Given the description of an element on the screen output the (x, y) to click on. 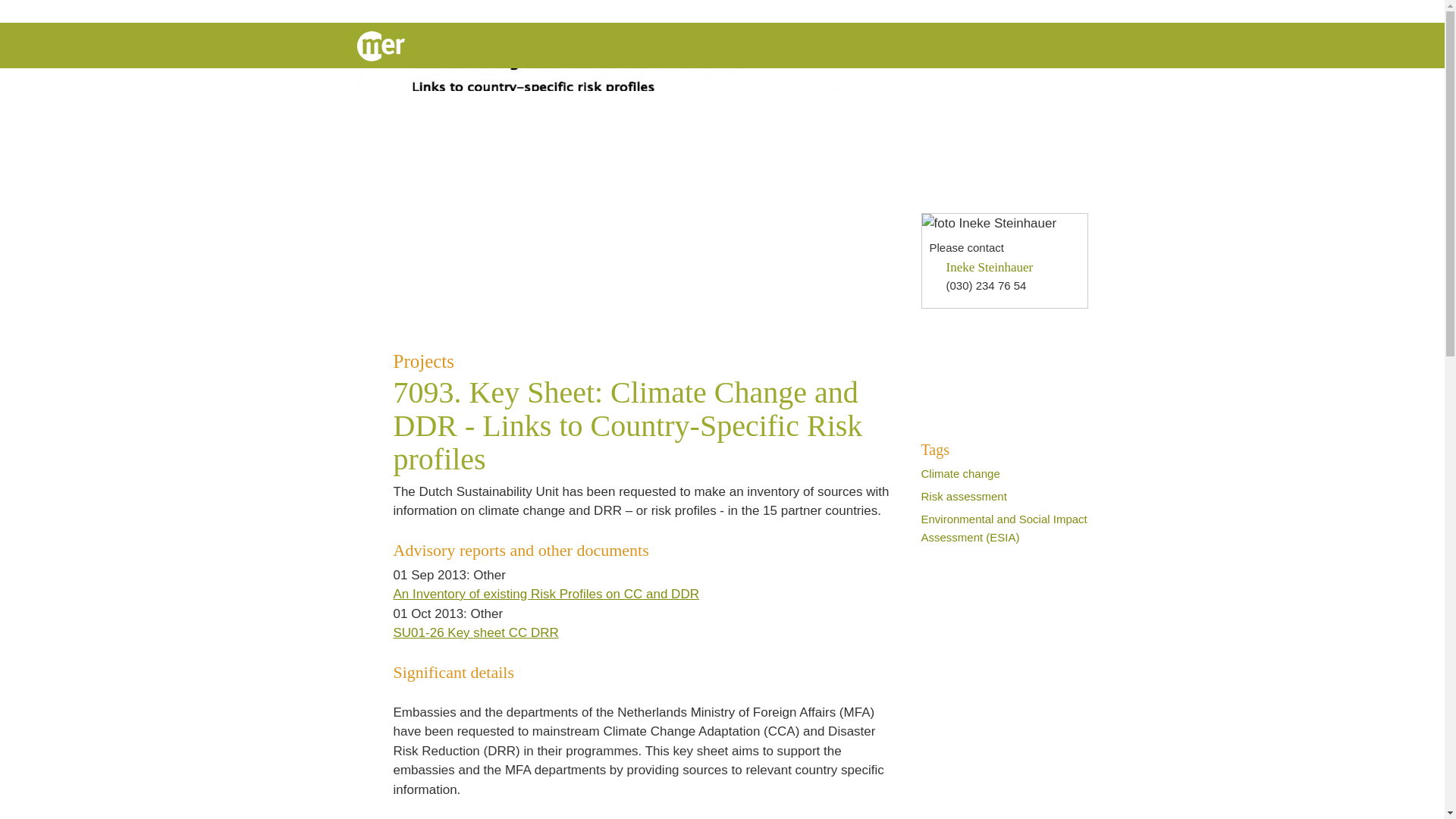
Projects (641, 361)
Ineke Steinhauer (989, 266)
An Inventory of existing Risk Profiles on CC and DDR (555, 594)
Climate change (959, 473)
Risk assessment (963, 496)
SU01-26 Key sheet CC DRR (484, 632)
